Given the description of an element on the screen output the (x, y) to click on. 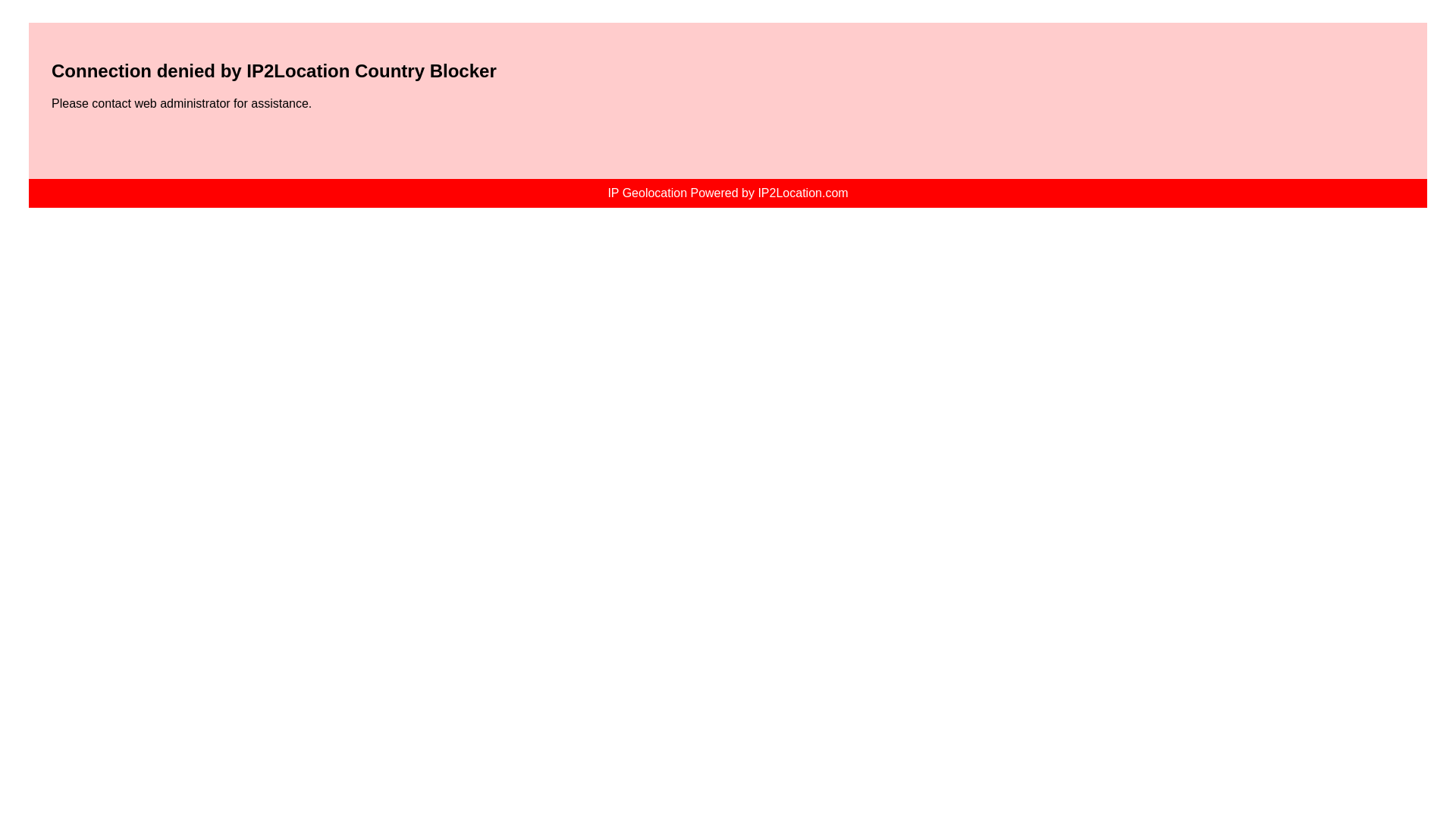
IP Geolocation Powered by IP2Location.com (727, 192)
